Given the description of an element on the screen output the (x, y) to click on. 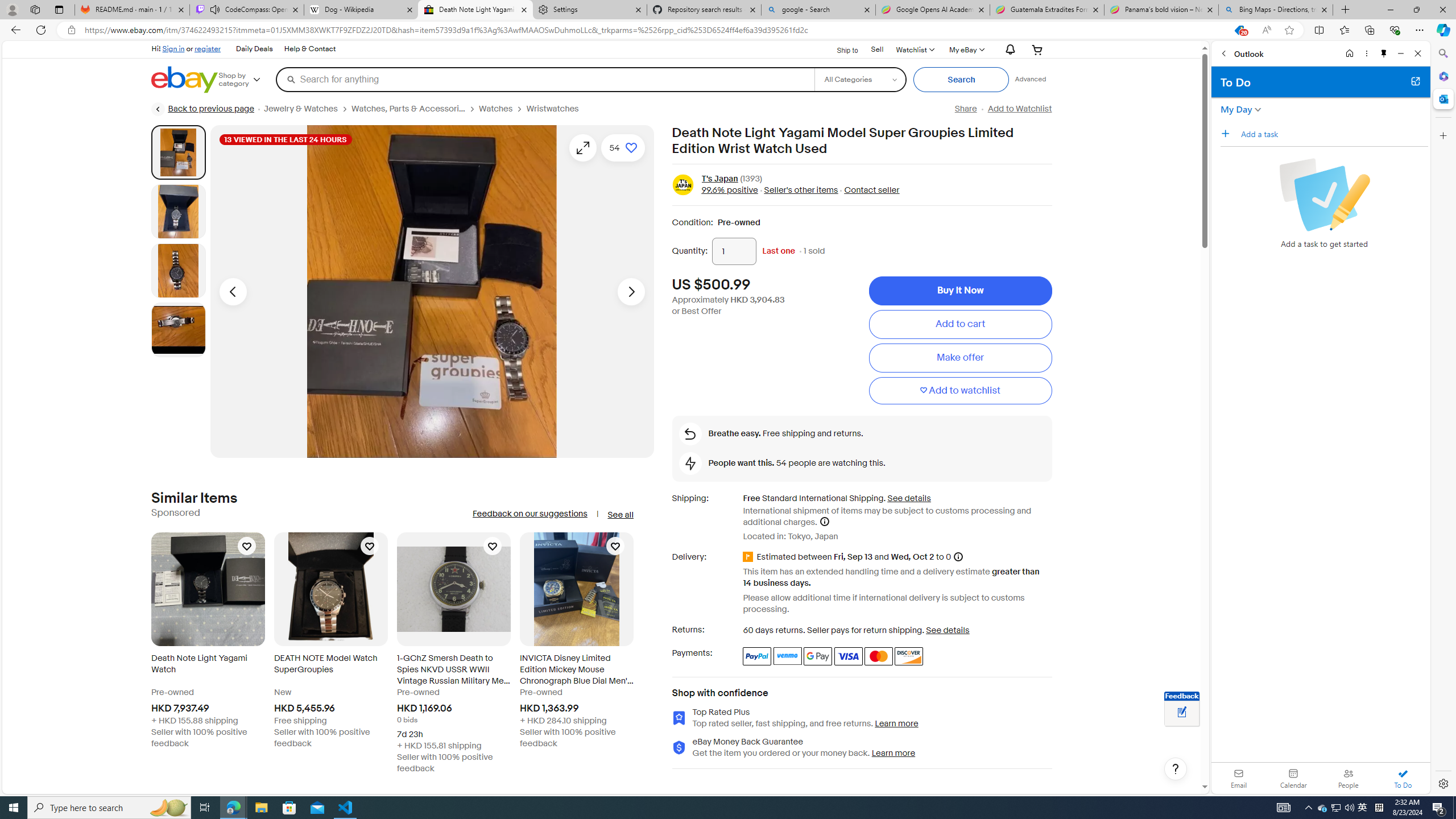
Picture 2 of 4 (178, 211)
Picture 1 of 4 (177, 152)
Leave feedback about your eBay ViewItem experience (1181, 713)
See all (620, 514)
Add to watchlist (959, 390)
Back to previous page (202, 109)
Google Opens AI Academy for Startups - Nearshore Americas (932, 9)
Add a task (1334, 133)
Make offer (959, 357)
